Given the description of an element on the screen output the (x, y) to click on. 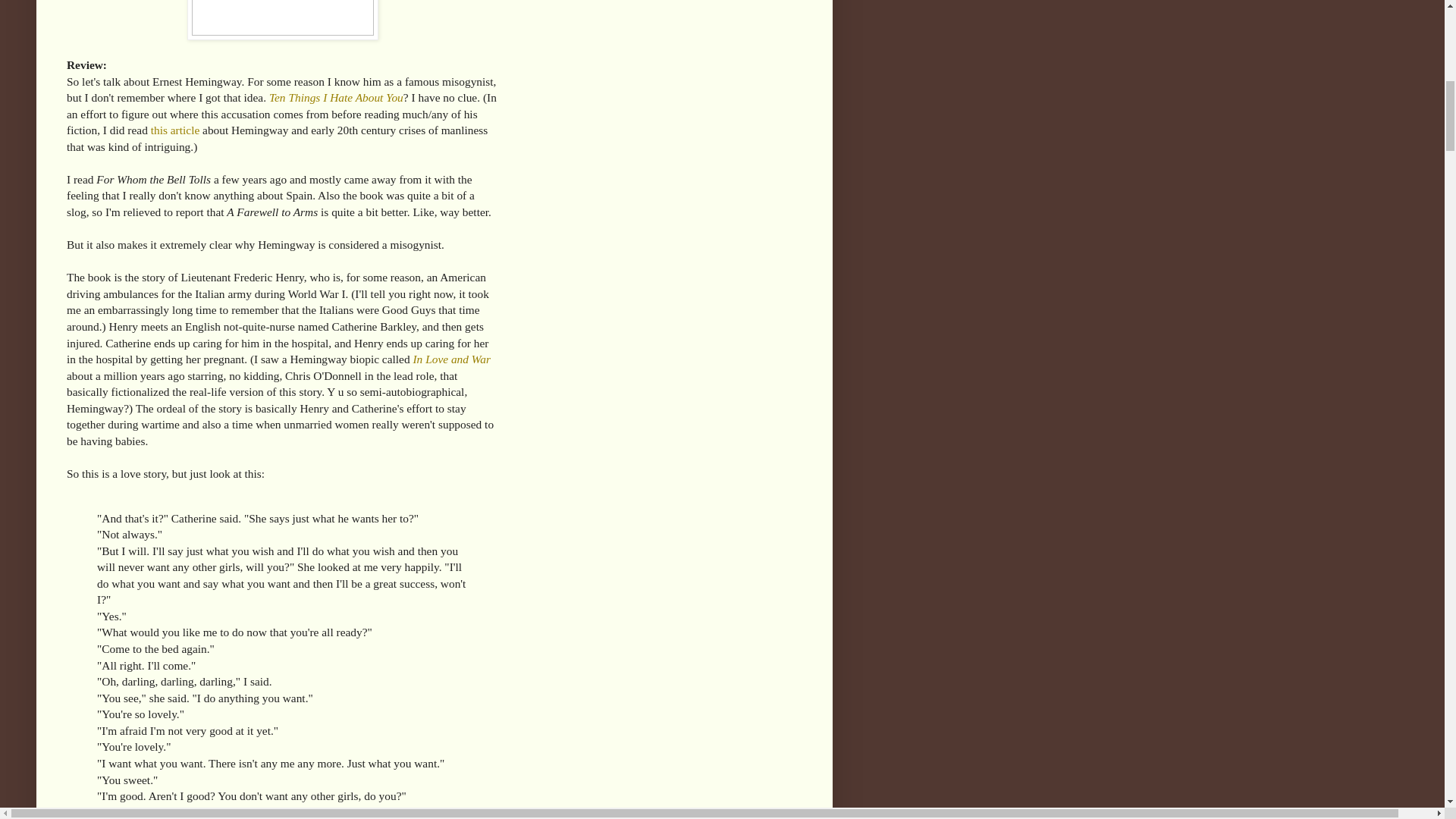
Ten Things I Hate About You (336, 97)
this article (175, 129)
In Love and War (450, 358)
